Given the description of an element on the screen output the (x, y) to click on. 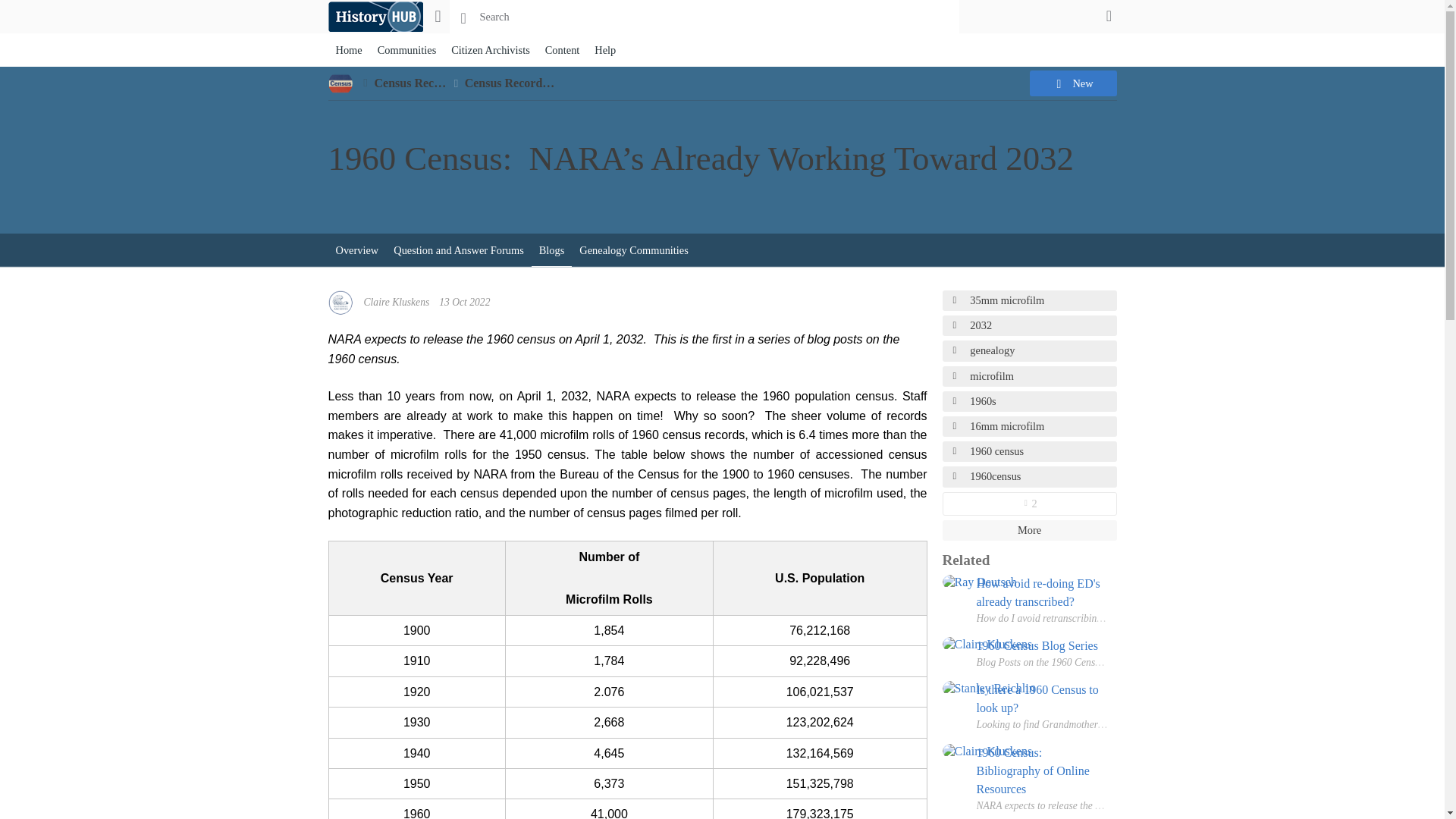
How avoid re-doing ED's already transcribed? (1042, 592)
2032 (1029, 325)
Home (348, 49)
genealogy (1029, 350)
1960 Census Blog Series (1042, 646)
1960s (1029, 401)
Join or sign in (1108, 15)
Census Records Blog (518, 82)
Up to Genealogy (365, 83)
Citizen Archivists (490, 49)
Home (374, 16)
Communities (406, 49)
New (1072, 83)
Content (562, 49)
Question and Answer Forums (458, 249)
